Given the description of an element on the screen output the (x, y) to click on. 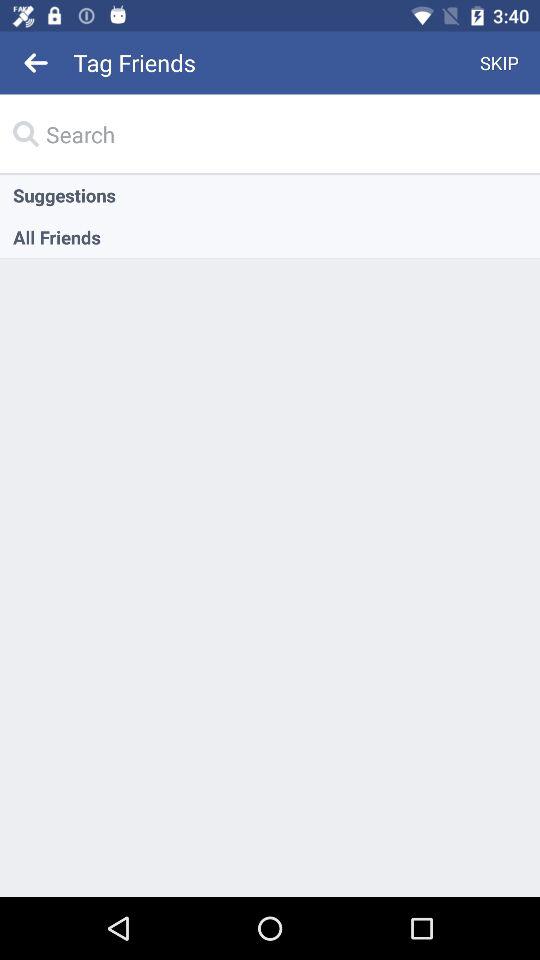
flip to skip item (499, 62)
